Given the description of an element on the screen output the (x, y) to click on. 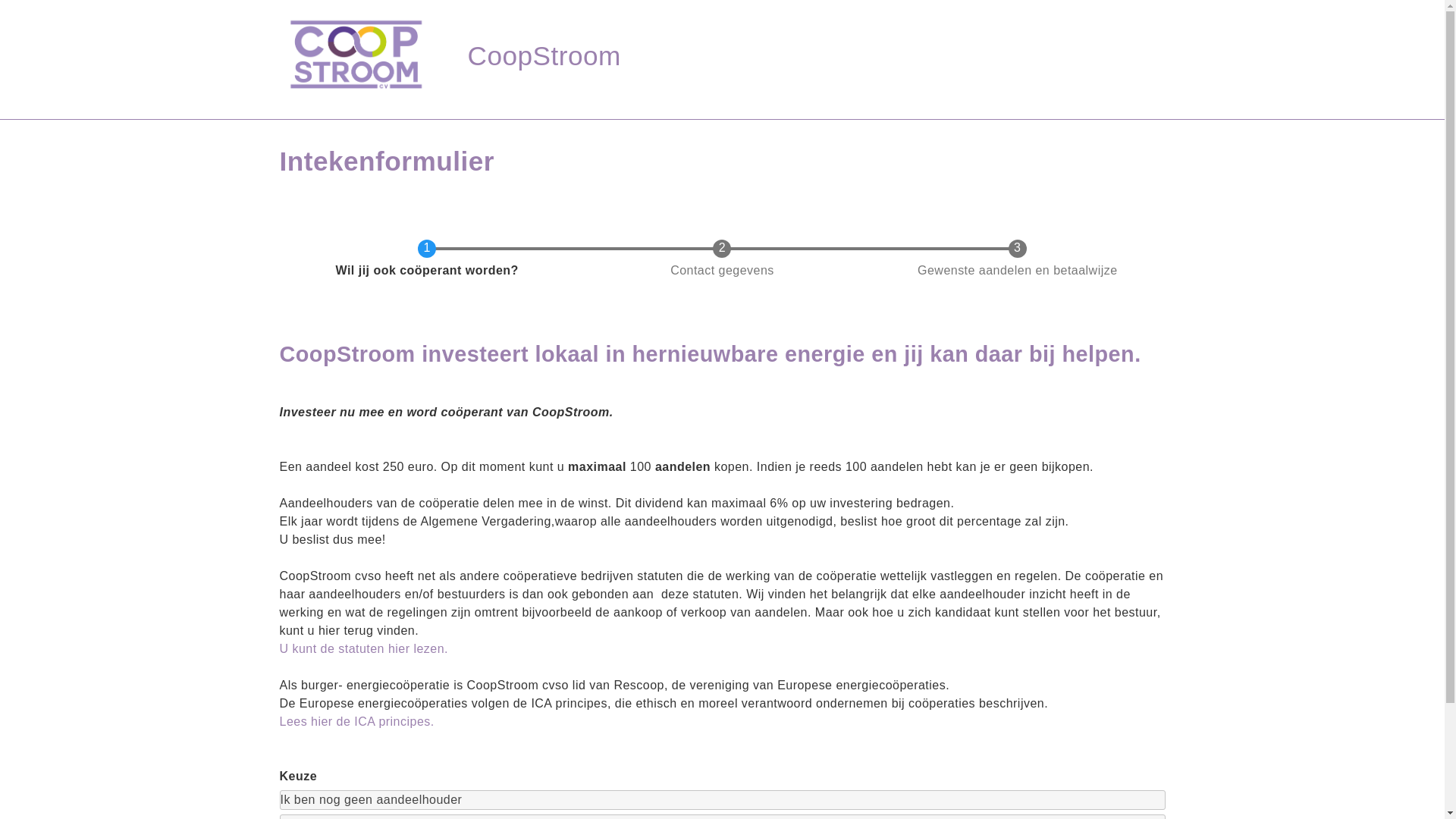
U kunt de statuten hier lezen. Element type: text (363, 648)
Skip to main navigation Element type: text (0, 12)
CoopStroom Element type: text (543, 55)
Lees hier de ICA principes. Element type: text (356, 721)
